Given the description of an element on the screen output the (x, y) to click on. 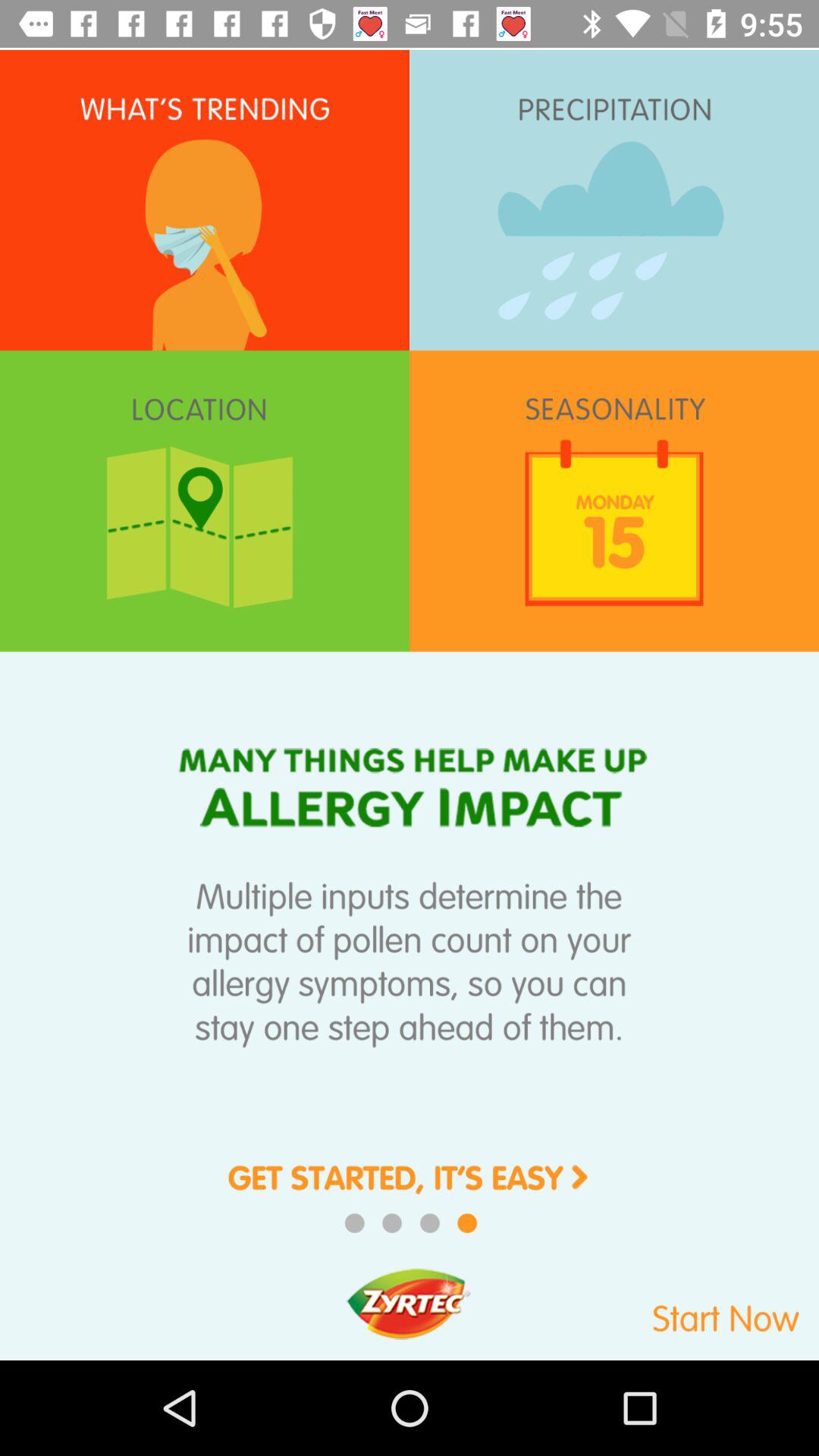
go to next page (409, 1188)
